Given the description of an element on the screen output the (x, y) to click on. 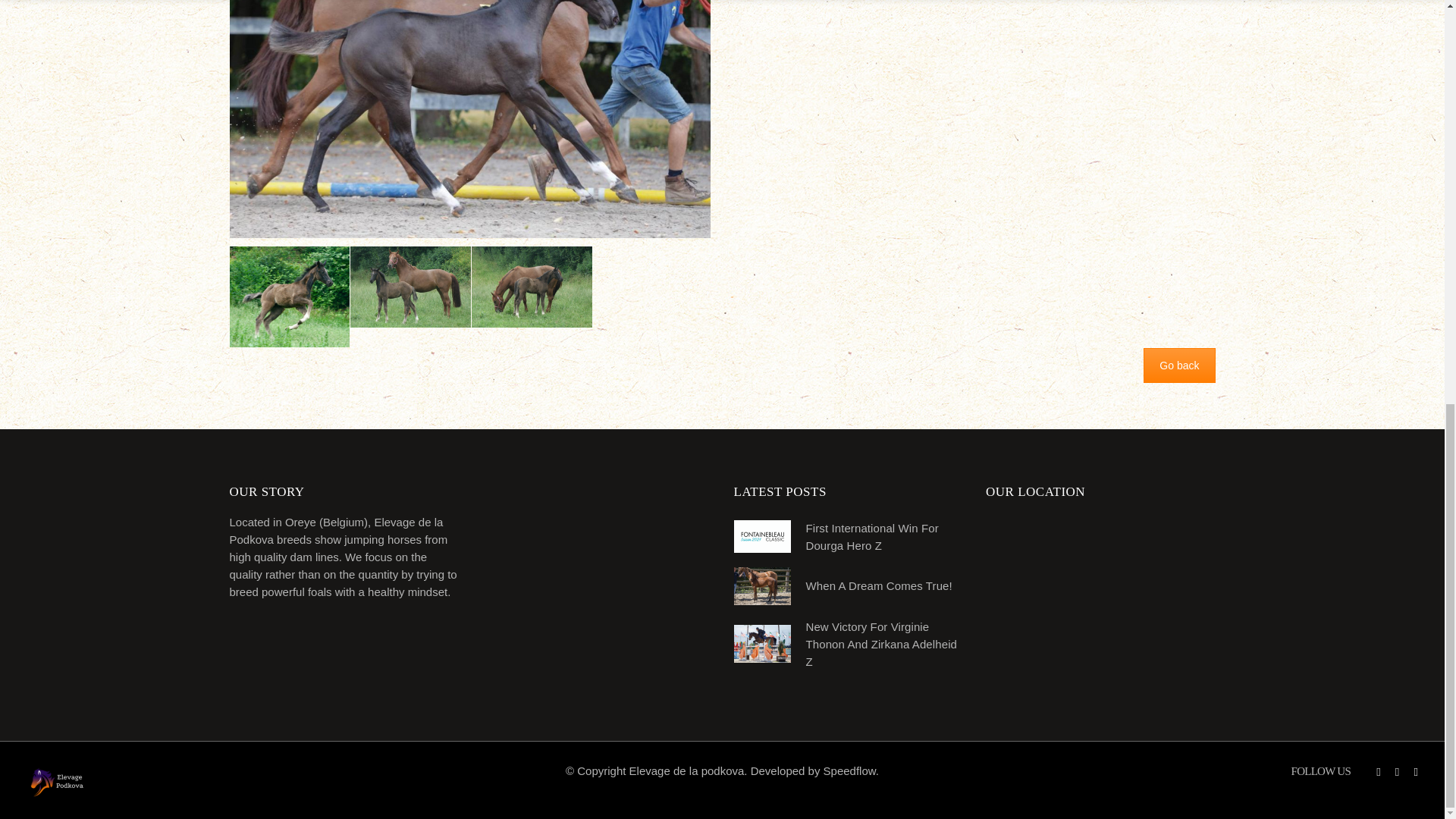
Tallula de la Podkova Z (974, 99)
Sport-horses (1178, 365)
